Given the description of an element on the screen output the (x, y) to click on. 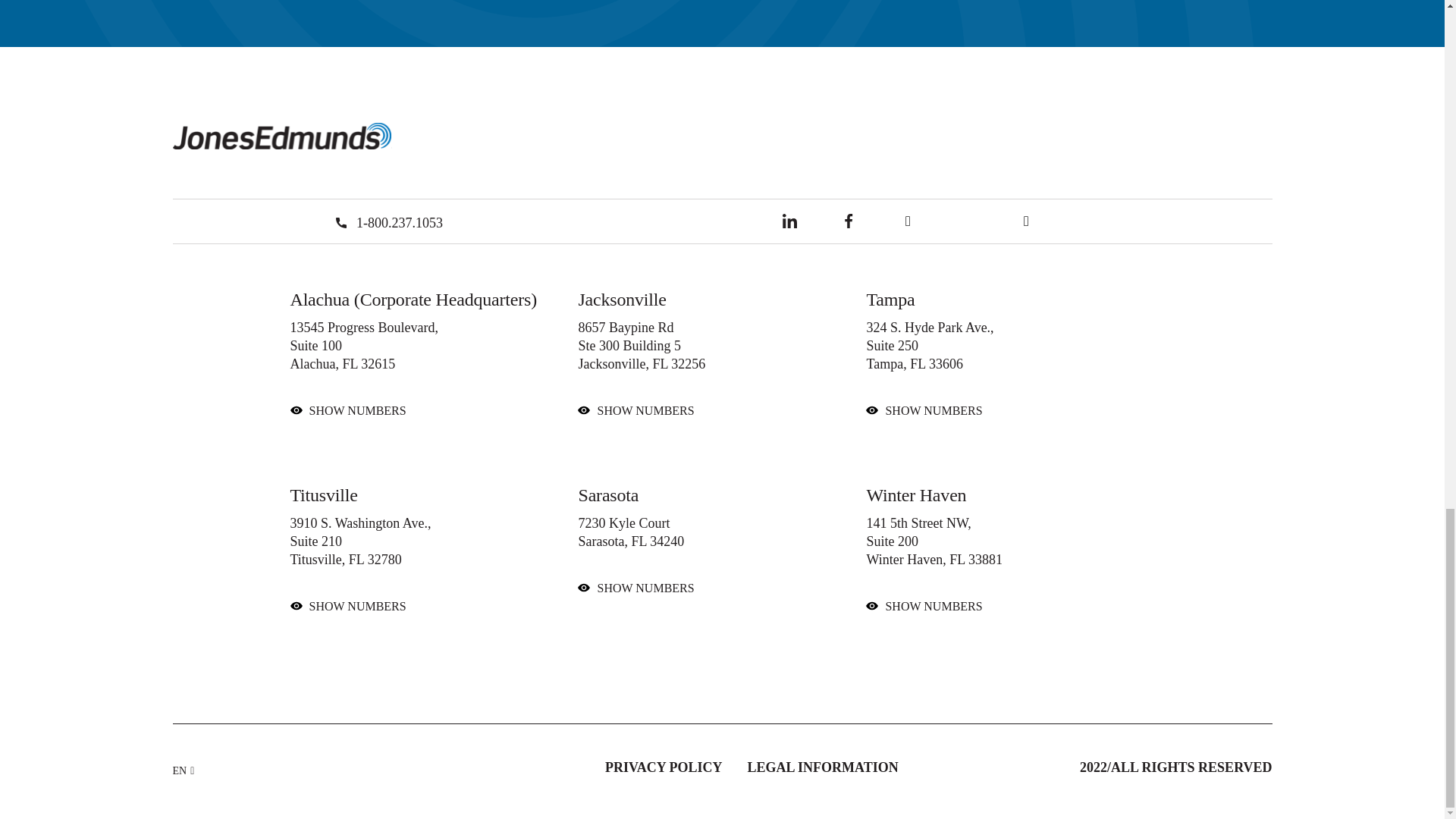
SHOW NUMBERS (357, 410)
SHOW NUMBERS (357, 605)
SHOW NUMBERS (645, 410)
1-800.237.1053 (388, 223)
